Given the description of an element on the screen output the (x, y) to click on. 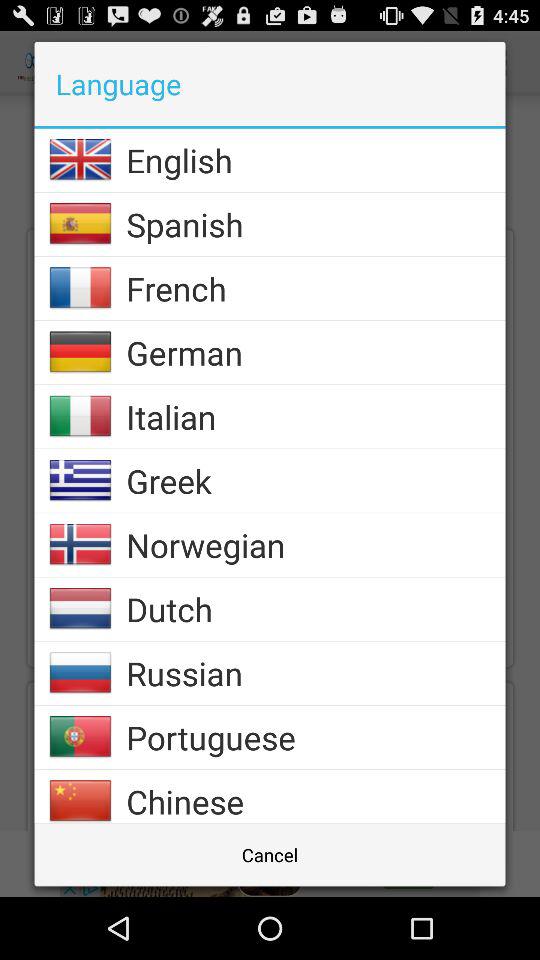
press the app below german item (315, 416)
